Given the description of an element on the screen output the (x, y) to click on. 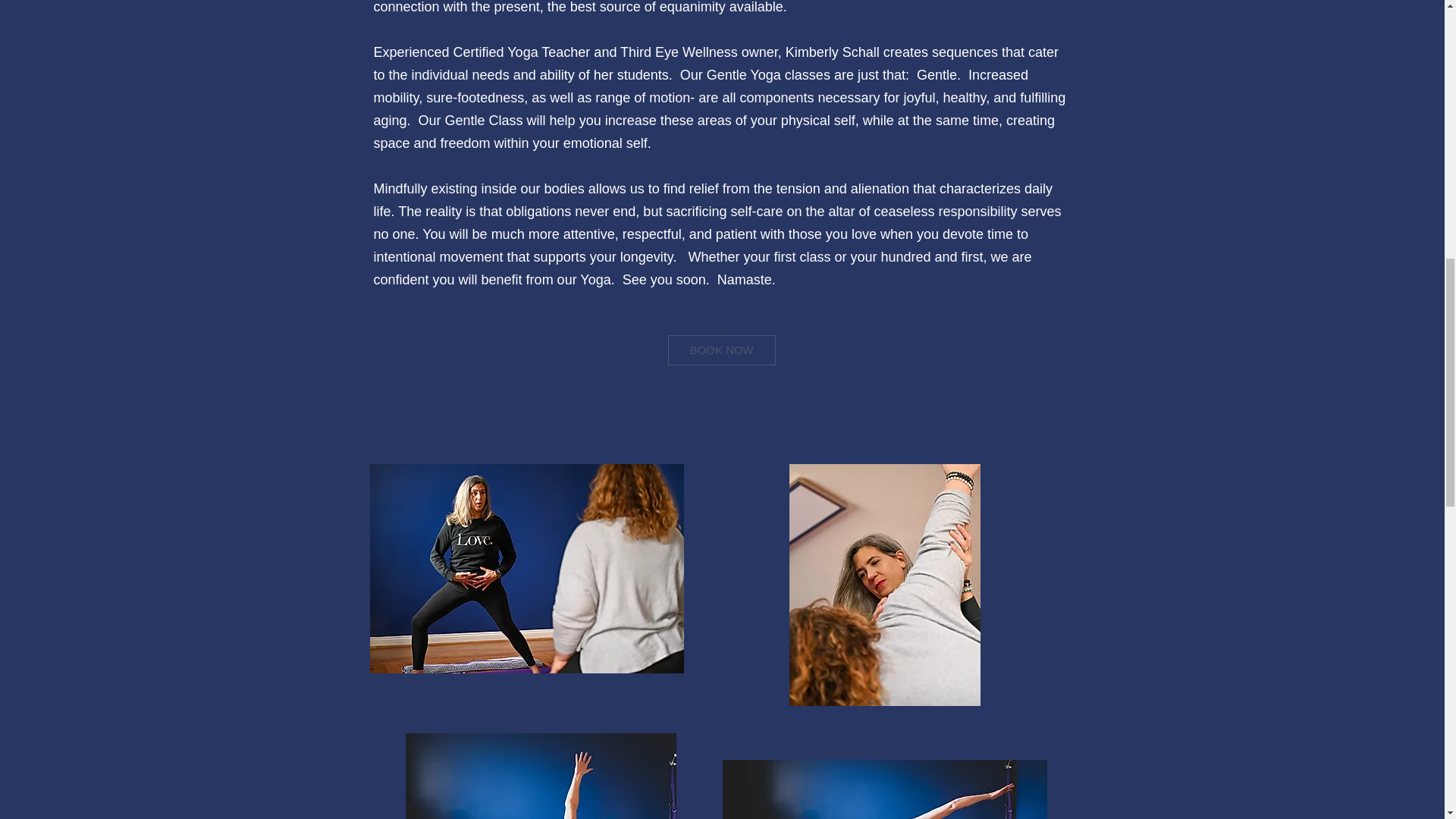
BOOK NOW (720, 349)
